Given the description of an element on the screen output the (x, y) to click on. 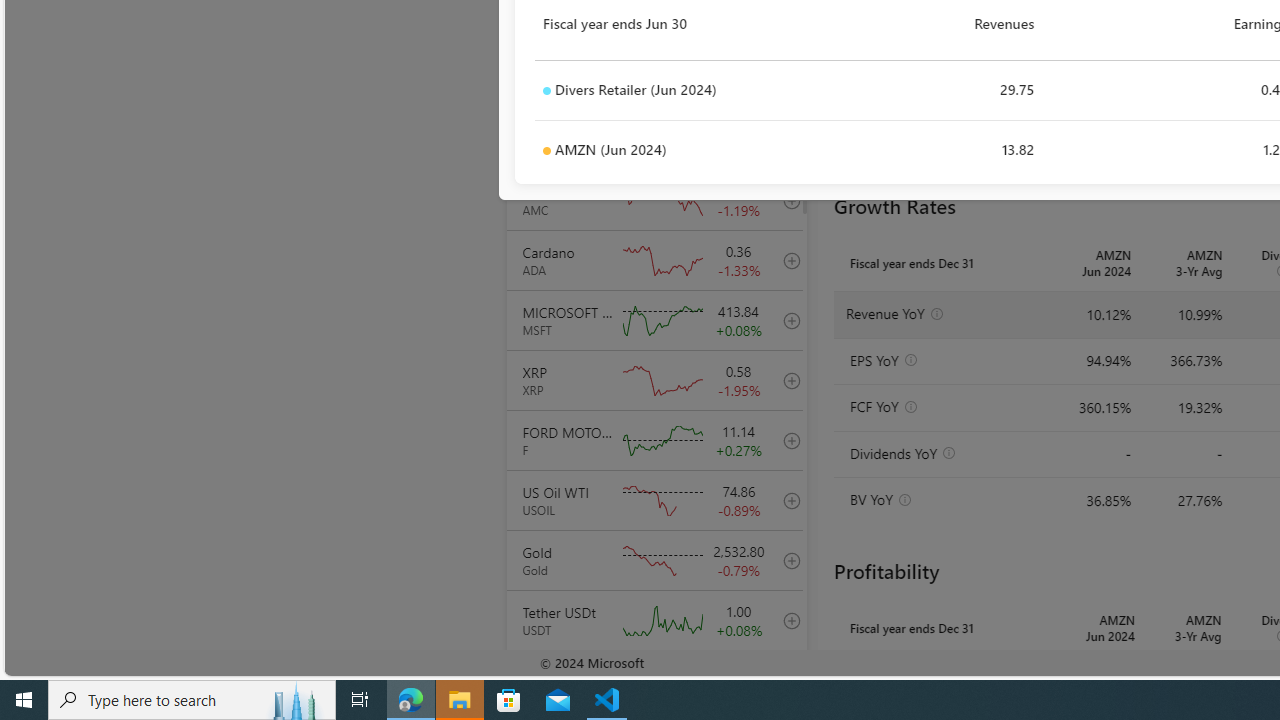
Class: symbolDot-DS-EntryPoint1-2 (546, 151)
add to your watchlist (786, 680)
